Given the description of an element on the screen output the (x, y) to click on. 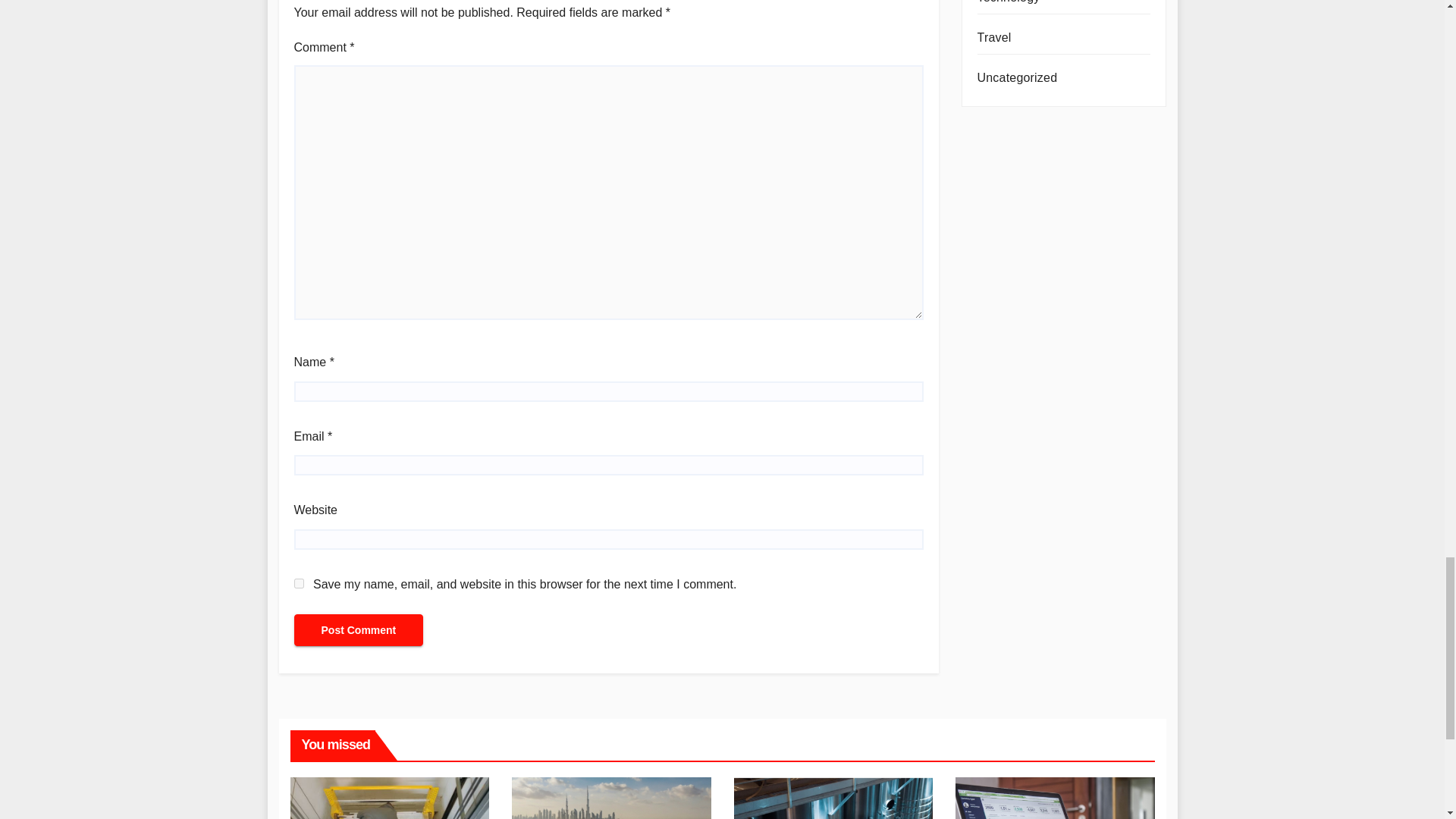
Post Comment (358, 630)
yes (299, 583)
